Given the description of an element on the screen output the (x, y) to click on. 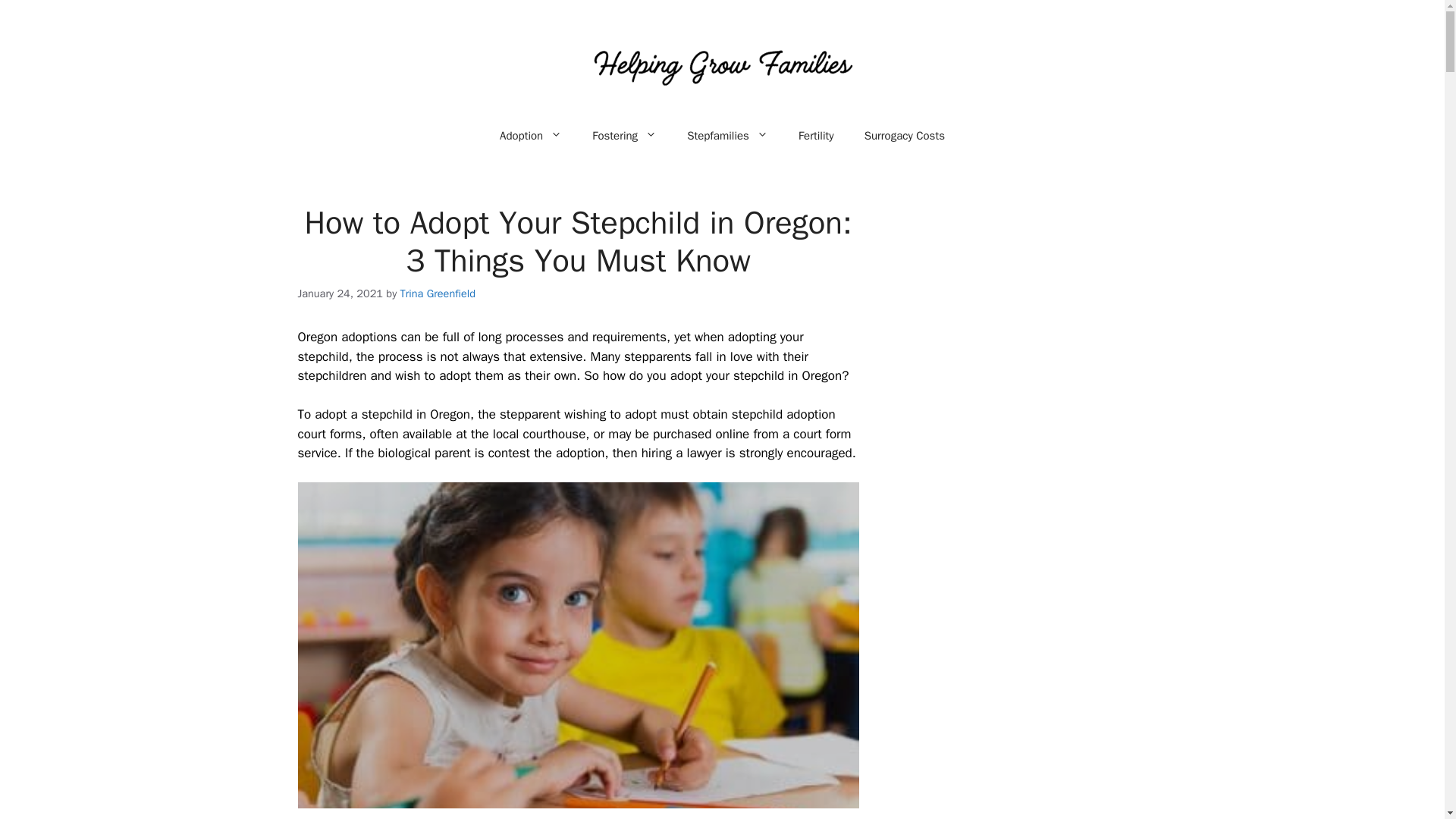
Fertility (815, 135)
Surrogacy Costs (903, 135)
Trina Greenfield (438, 293)
Adoption (530, 135)
Stepfamilies (727, 135)
View all posts by Trina Greenfield (438, 293)
Fostering (623, 135)
